Given the description of an element on the screen output the (x, y) to click on. 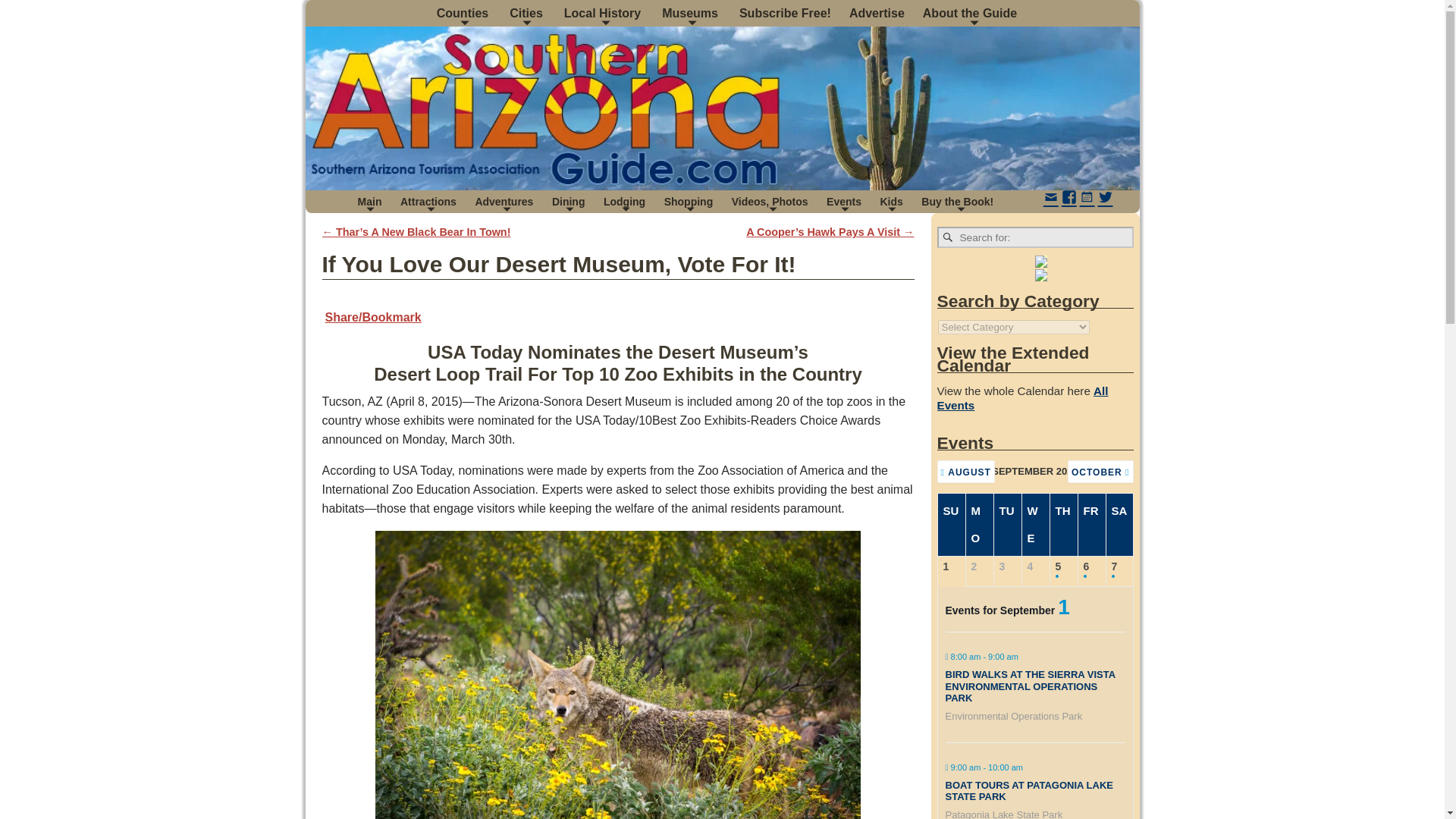
Cities (527, 13)
Select Cities (527, 13)
Local History (603, 13)
Counties (464, 13)
Counties (464, 13)
